Given the description of an element on the screen output the (x, y) to click on. 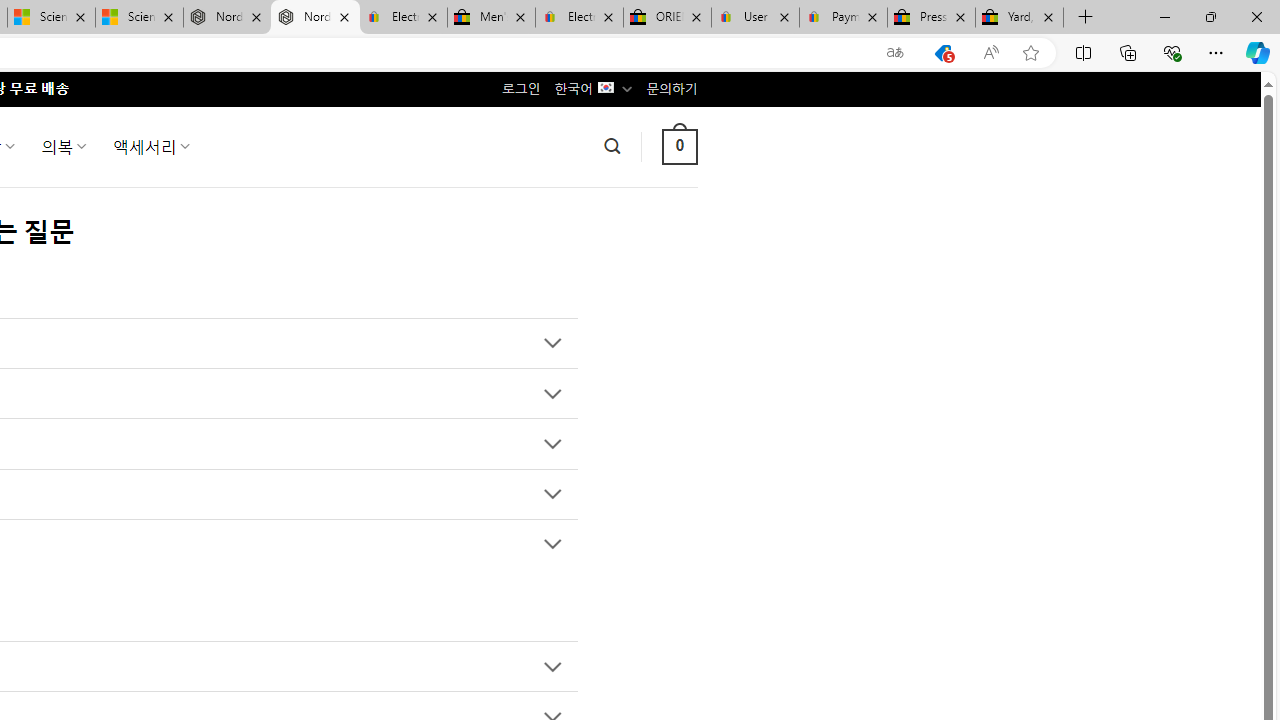
This site has coupons! Shopping in Microsoft Edge, 5 (943, 53)
Yard, Garden & Outdoor Living (1019, 17)
Nordace - Summer Adventures 2024 (227, 17)
